Given the description of an element on the screen output the (x, y) to click on. 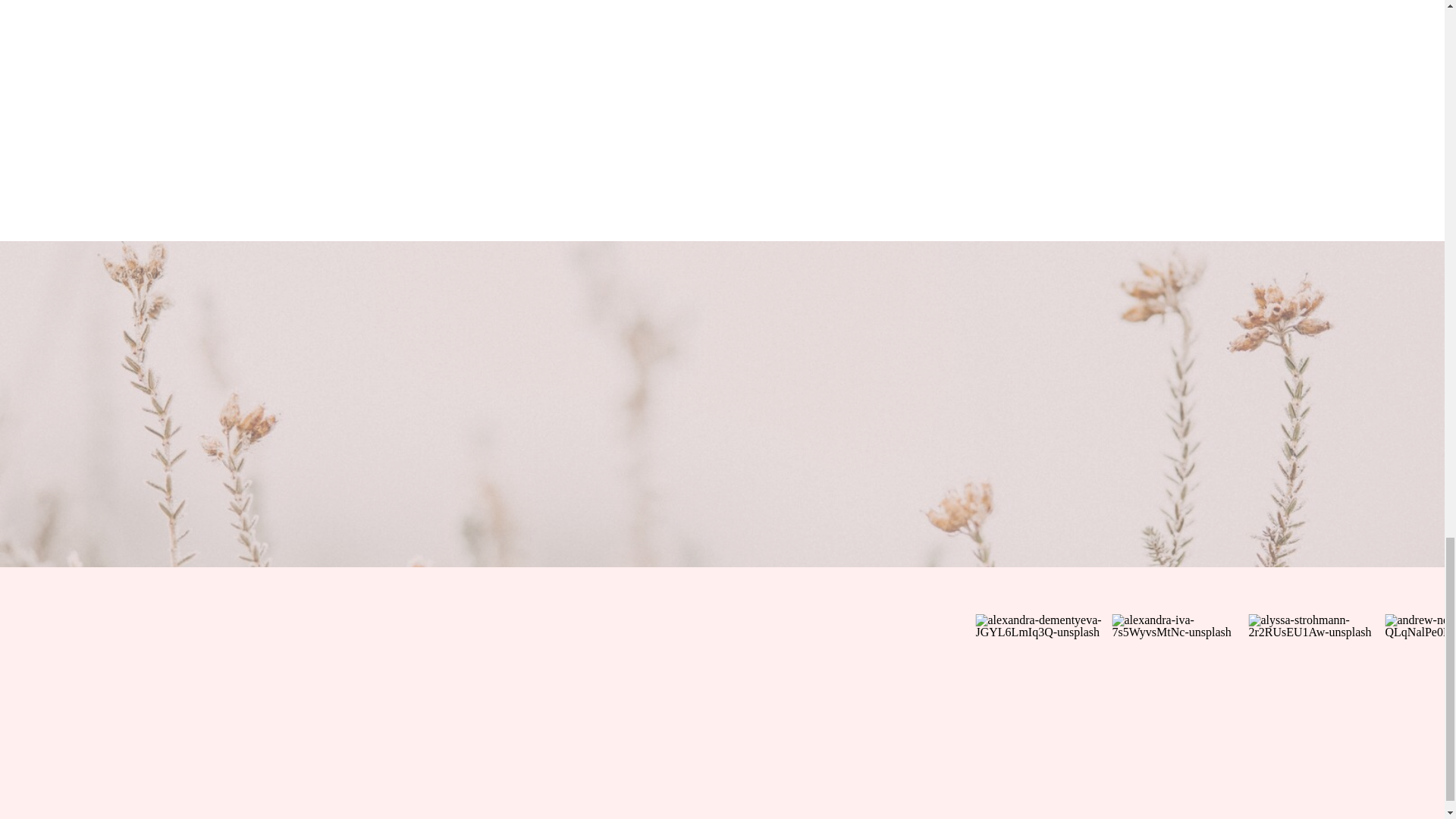
alyssa-strohmann-2r2RUsEU1Aw-unsplash (1315, 682)
alexandra-iva-7s5WyvsMtNc-unsplash (1179, 682)
alexandra-dementyeva-JGYL6LmIq3Q-unsplash (1043, 682)
